Given the description of an element on the screen output the (x, y) to click on. 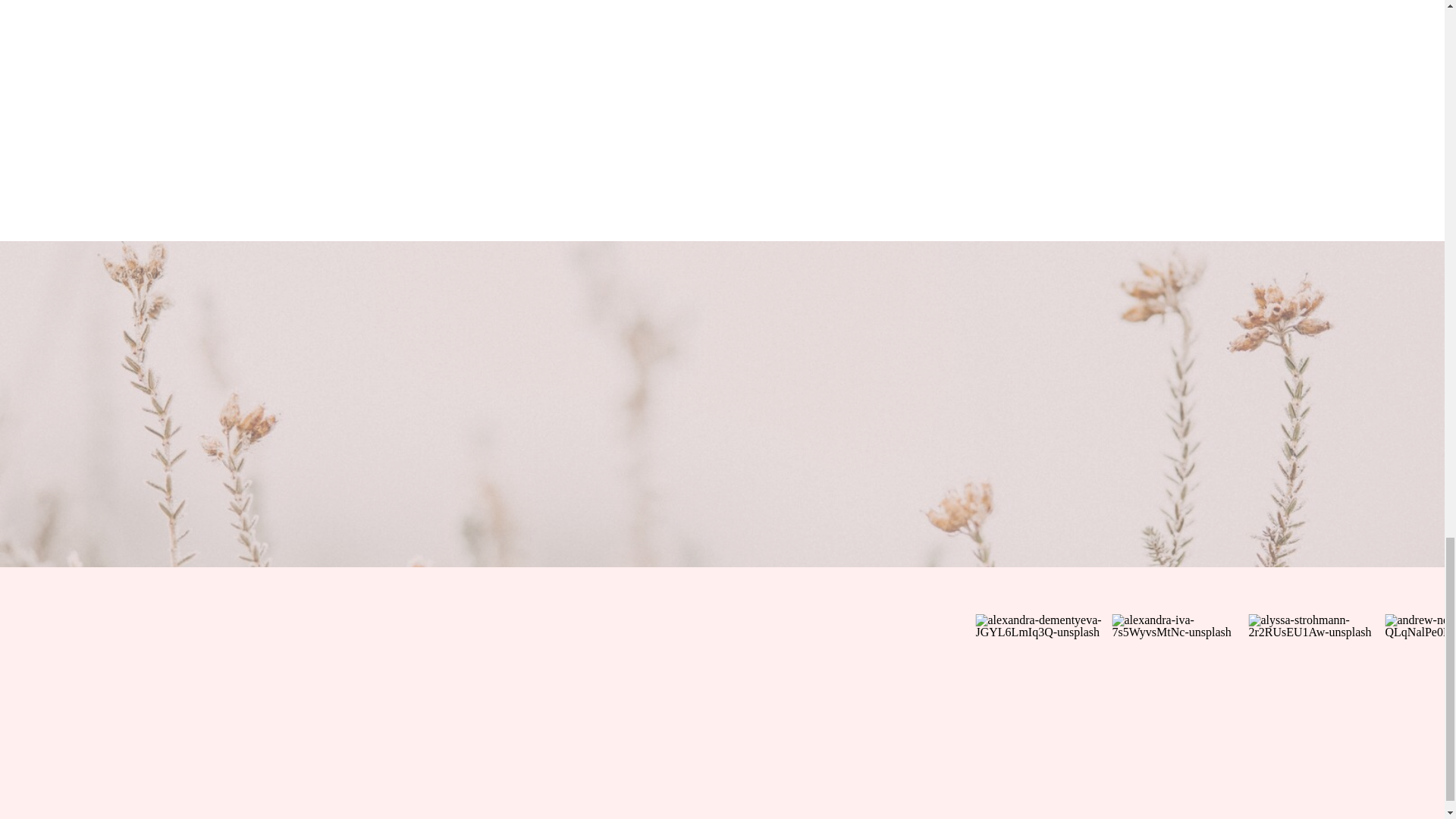
alyssa-strohmann-2r2RUsEU1Aw-unsplash (1315, 682)
alexandra-iva-7s5WyvsMtNc-unsplash (1179, 682)
alexandra-dementyeva-JGYL6LmIq3Q-unsplash (1043, 682)
